Given the description of an element on the screen output the (x, y) to click on. 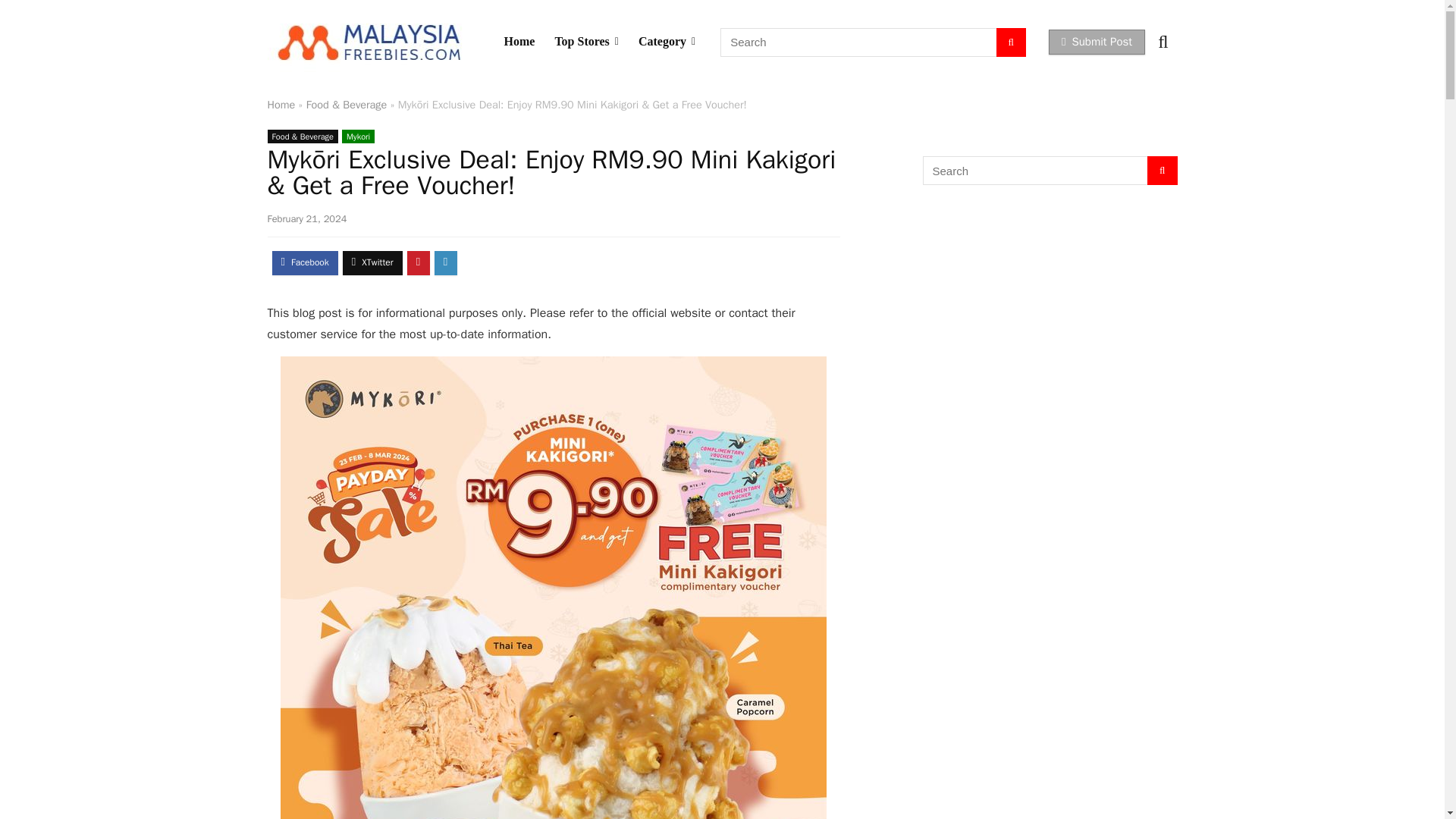
View all posts in Mykori (358, 136)
Home (519, 41)
Top Stores (586, 41)
Category (666, 41)
Submit Post (1096, 41)
Home (280, 104)
Mykori (358, 136)
